Given the description of an element on the screen output the (x, y) to click on. 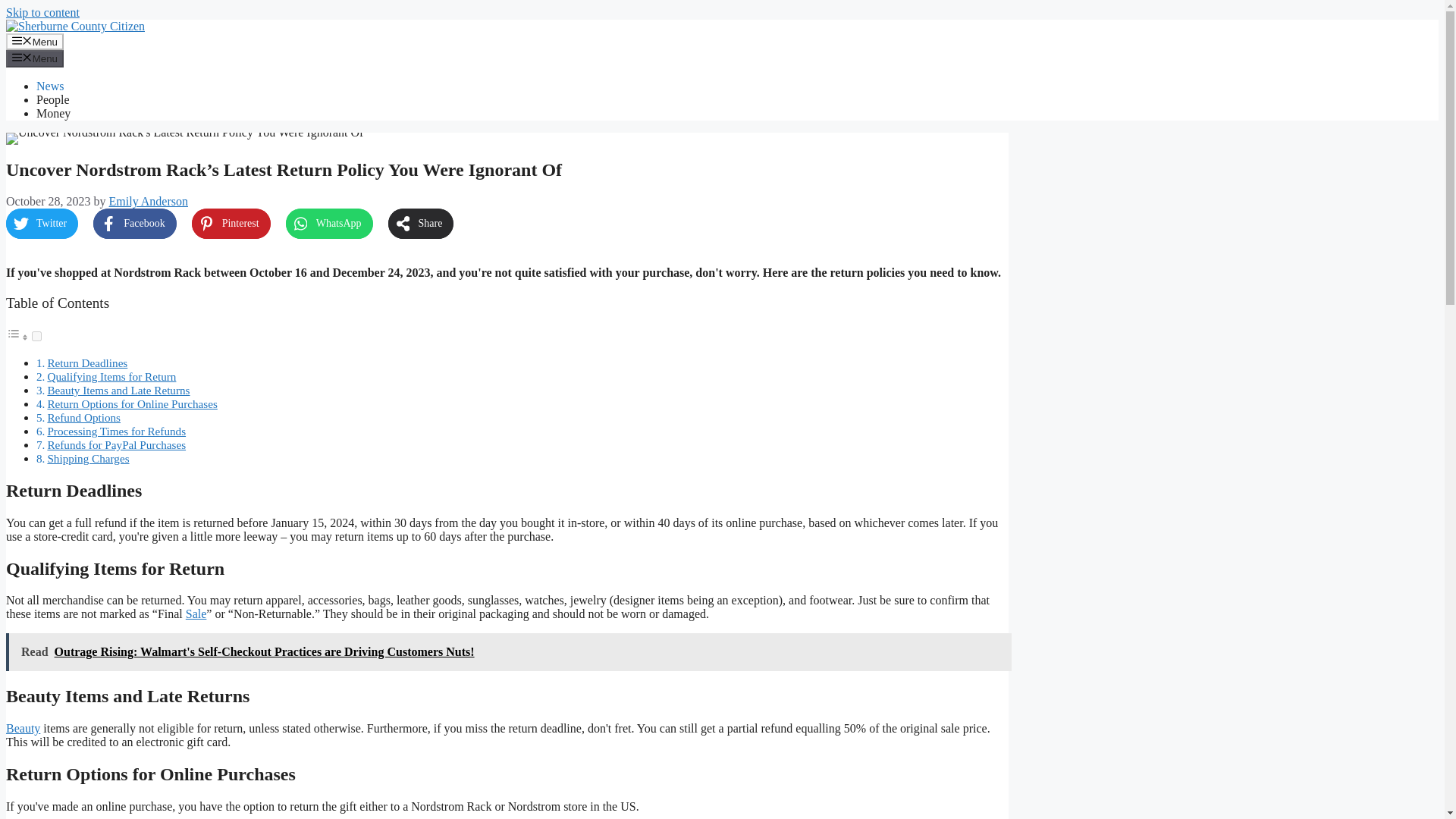
Share (421, 223)
Refunds for PayPal Purchases (116, 444)
Return Deadlines (87, 362)
Menu (34, 57)
WhatsApp (328, 223)
Processing Times for Refunds (116, 431)
Qualifying Items for Return (111, 376)
Facebook (134, 223)
Beauty (22, 727)
Return Options for Online Purchases (131, 403)
Shipping Charges (87, 458)
Refunds for PayPal Purchases (116, 444)
People (52, 99)
Twitter (41, 223)
News (50, 85)
